Given the description of an element on the screen output the (x, y) to click on. 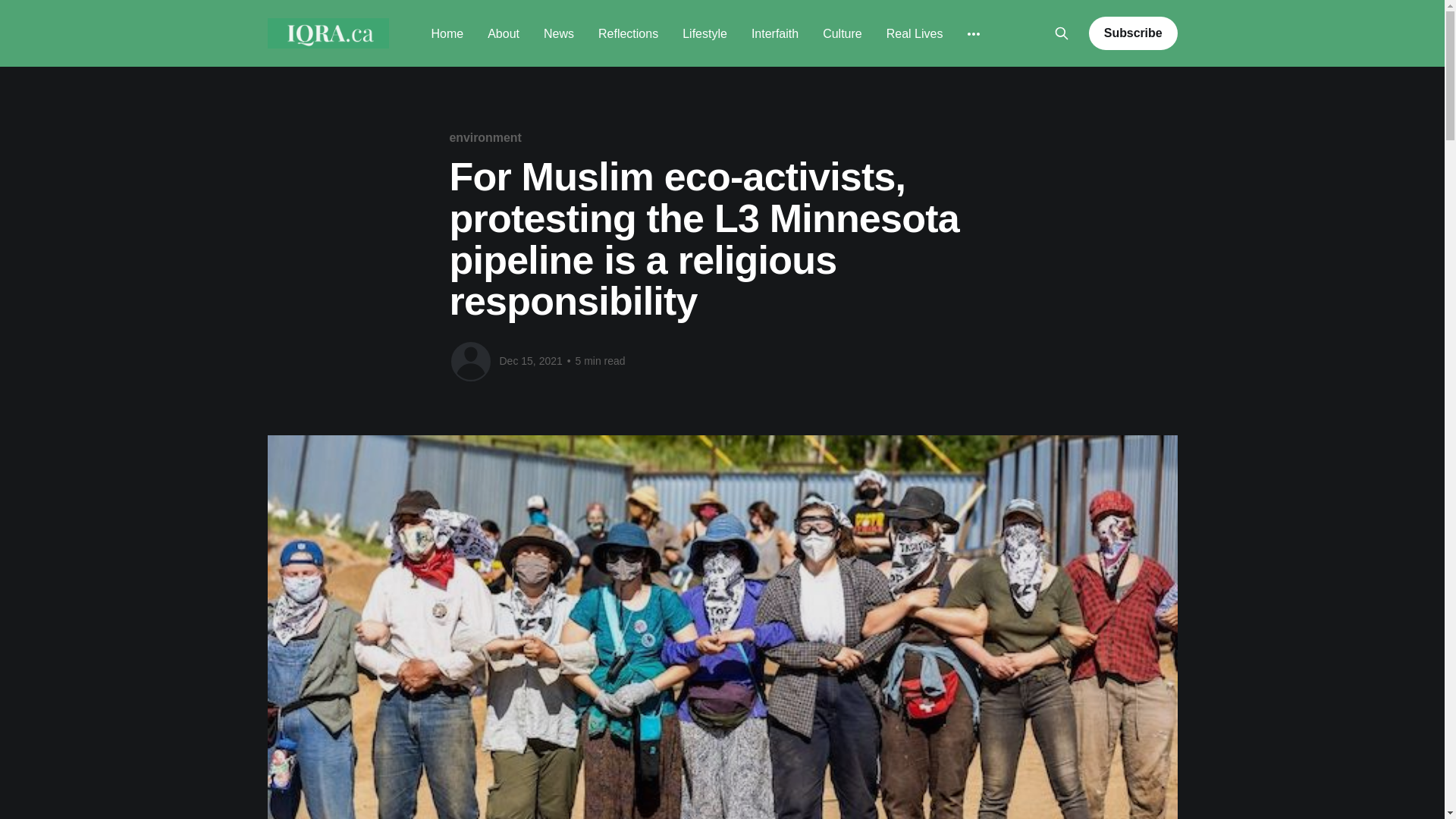
environment (484, 137)
About (503, 33)
Interfaith (774, 33)
Lifestyle (704, 33)
Reflections (628, 33)
News (558, 33)
Home (446, 33)
Culture (841, 33)
Subscribe (1133, 32)
Real Lives (914, 33)
